Given the description of an element on the screen output the (x, y) to click on. 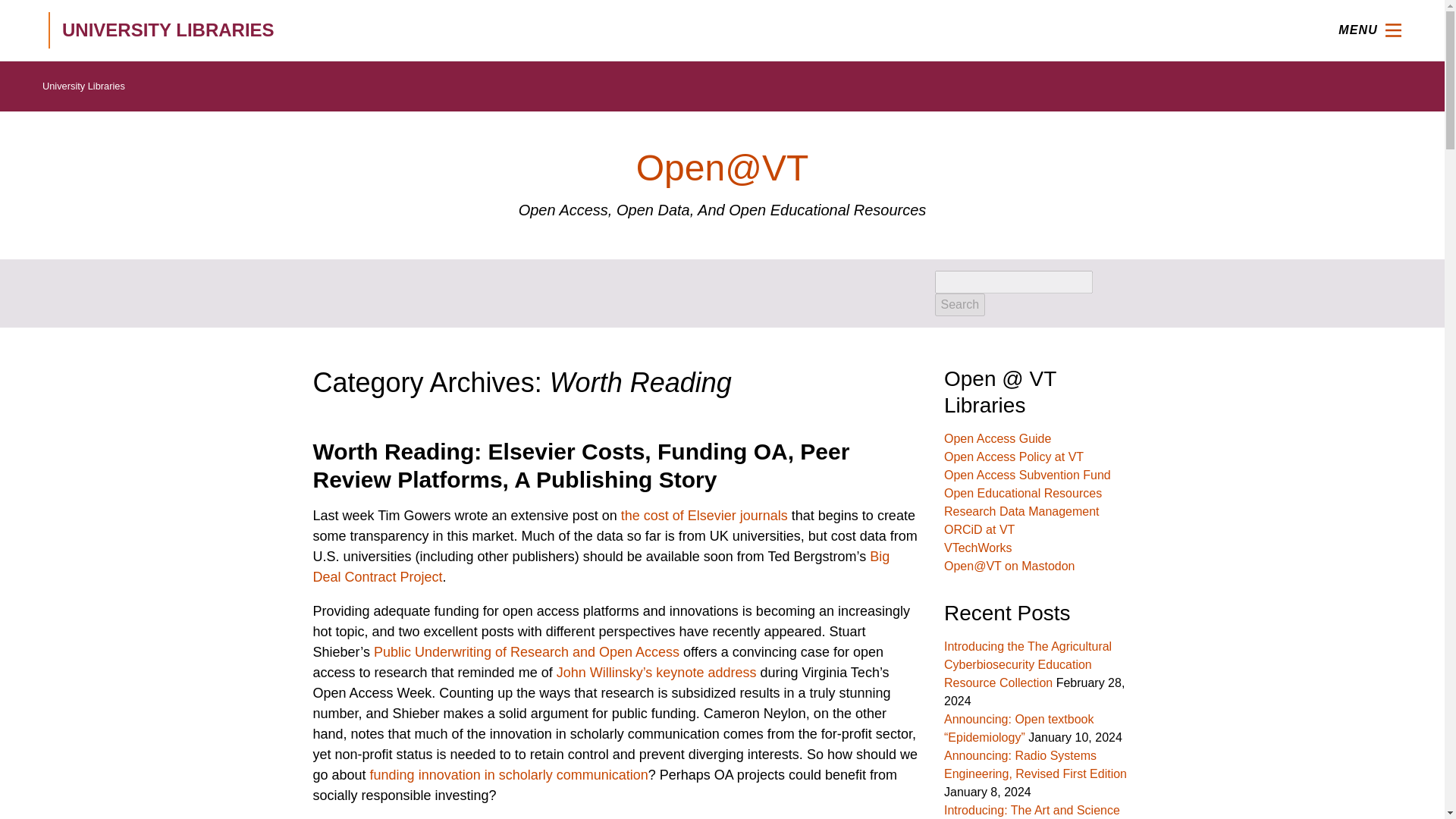
Funding innovation in scholarly communication (508, 774)
funding innovation in scholarly communication (508, 774)
University Libraries (83, 86)
the cost of Elsevier journals (704, 515)
Search (959, 304)
Big Deal Contract Project (601, 566)
Big Deal Contract Project (601, 566)
UNIVERSITY LIBRARIES (265, 29)
Willinsky Keynote (656, 672)
